Given the description of an element on the screen output the (x, y) to click on. 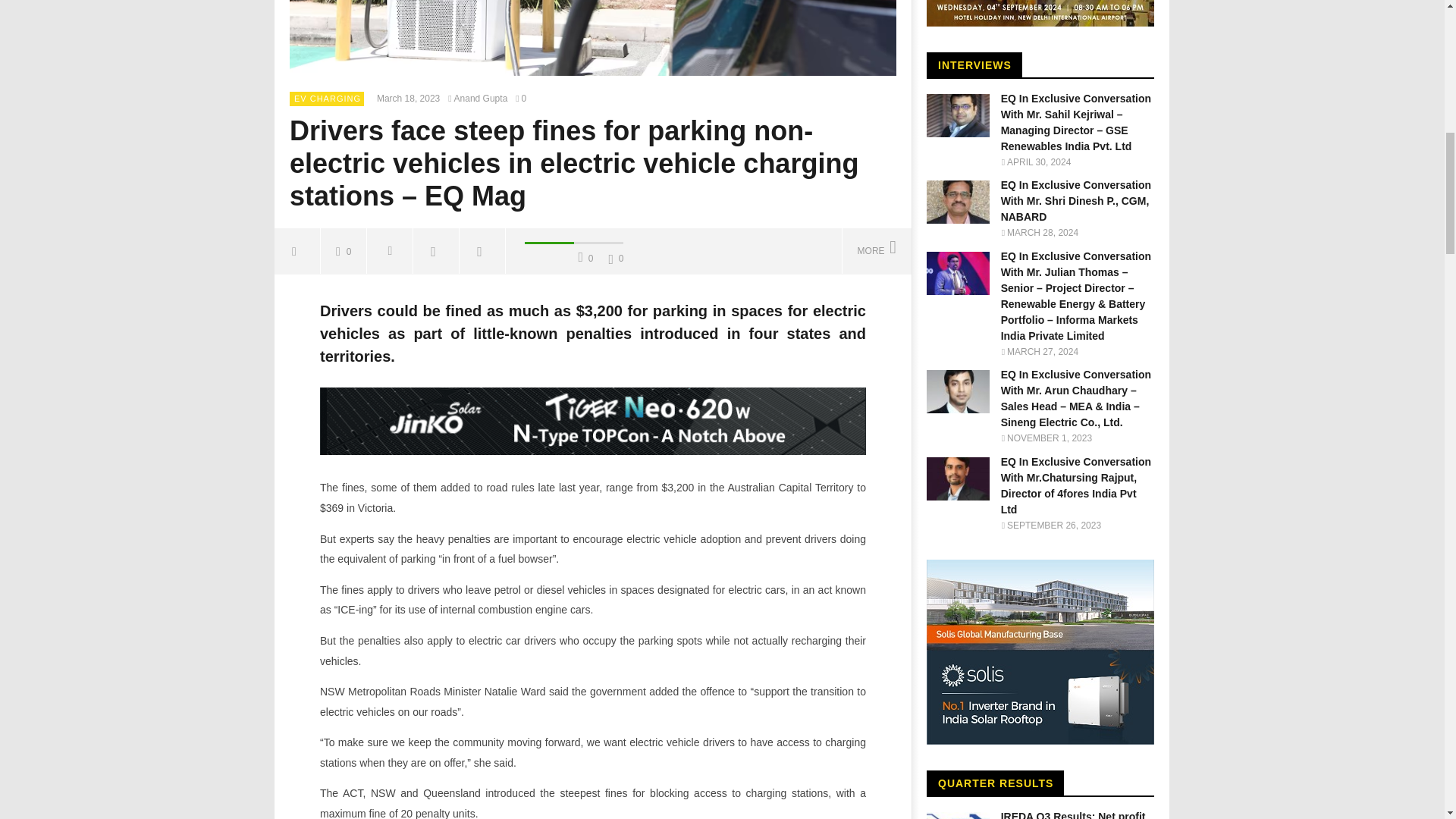
View all posts in EV Charging (327, 98)
